Given the description of an element on the screen output the (x, y) to click on. 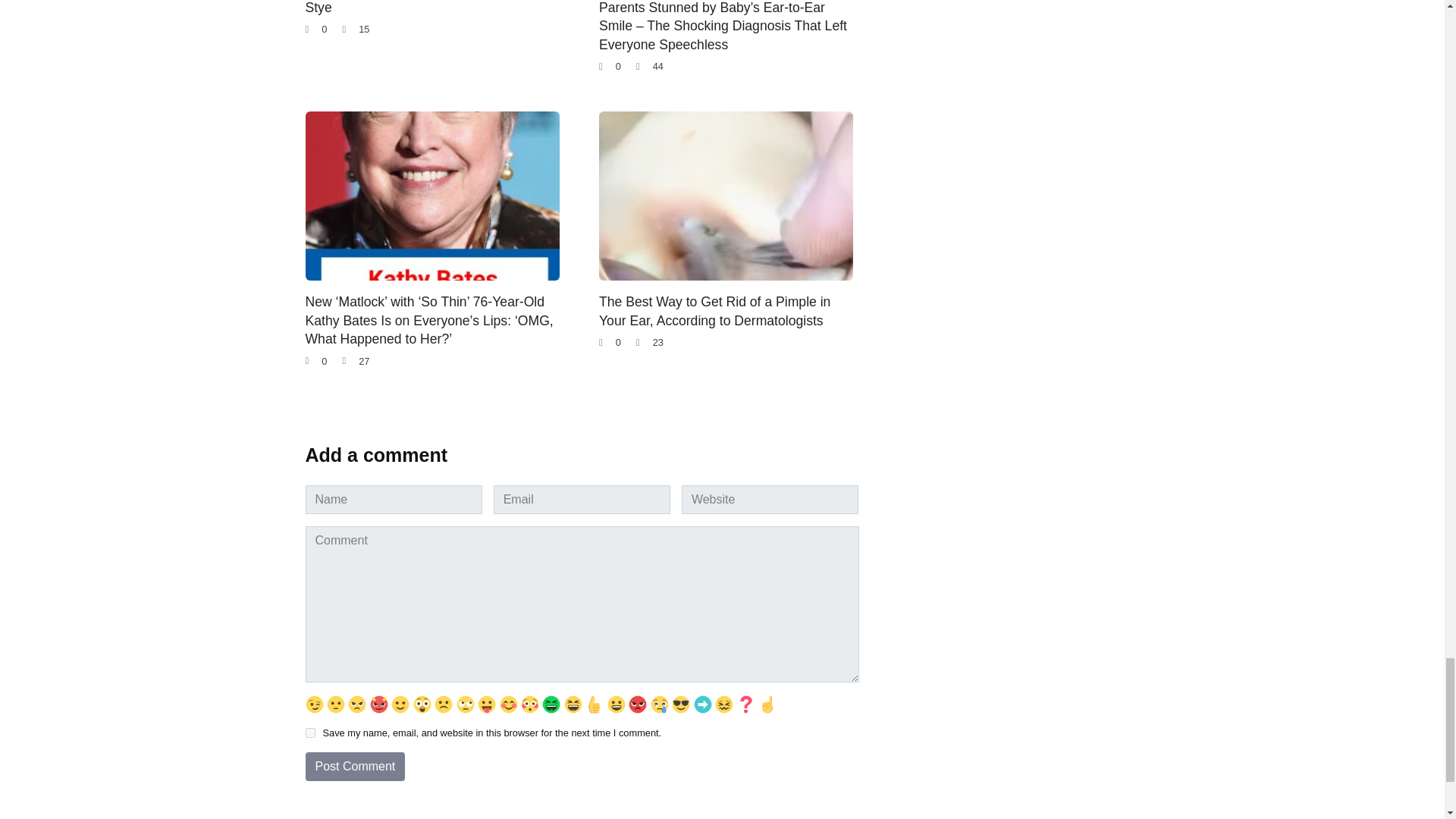
Post Comment (354, 766)
yes (309, 732)
Stye (317, 8)
Post Comment (354, 766)
